Given the description of an element on the screen output the (x, y) to click on. 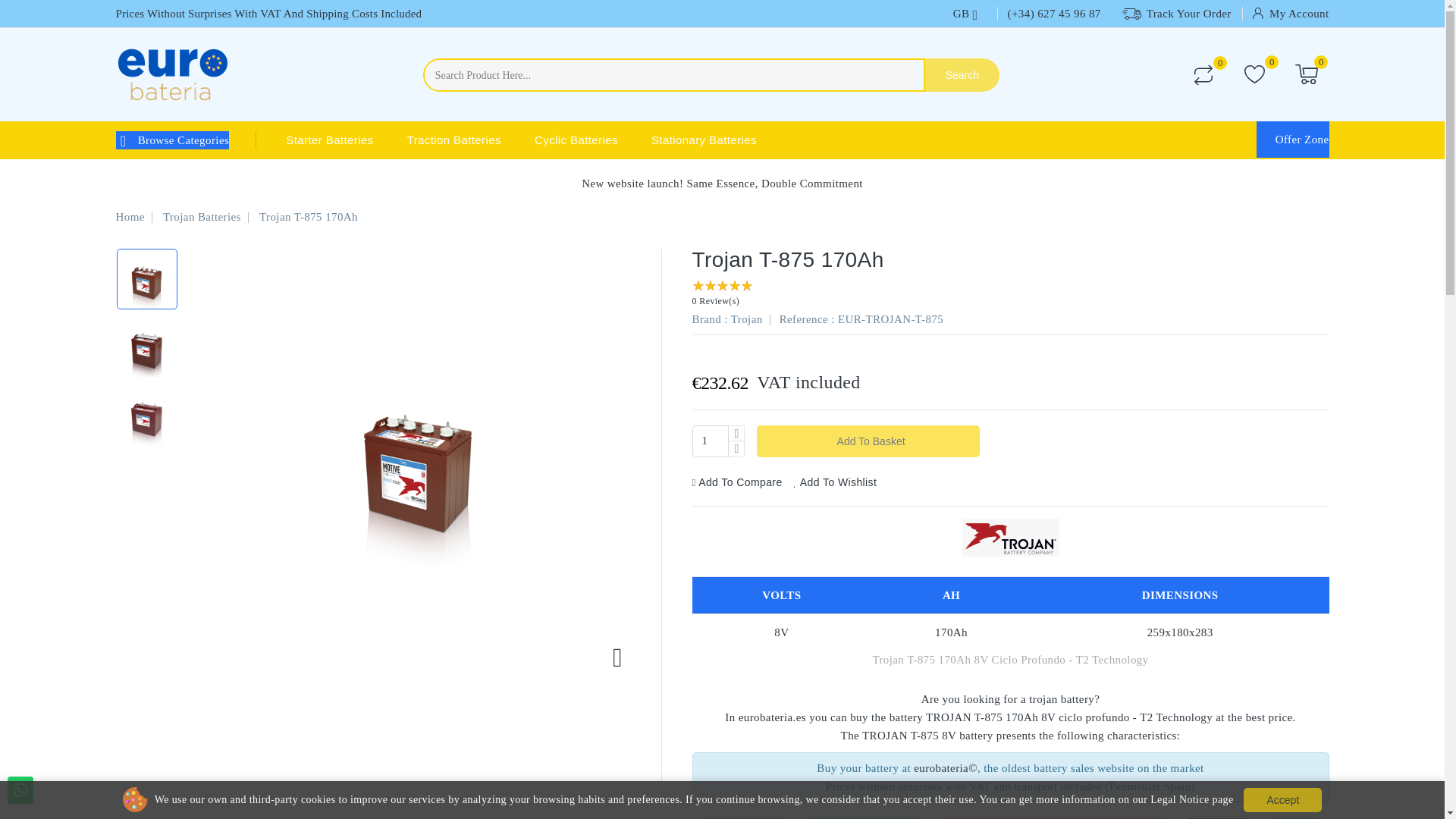
Wishlist (1254, 74)
Compare (1203, 75)
Add to Wishlist (835, 482)
Trojan T-875 battery 8V 170Ah (146, 346)
Trojan T-875 battery 8V 170Ah (146, 414)
Add to Compare (736, 482)
Wishlist (1254, 74)
My Account (1290, 13)
Search (961, 73)
Track Your Order (1176, 13)
Compare (1203, 75)
1 (709, 441)
Trojan T-875 battery 8V 170Ah (146, 278)
Log in to your customer account (1290, 13)
